Given the description of an element on the screen output the (x, y) to click on. 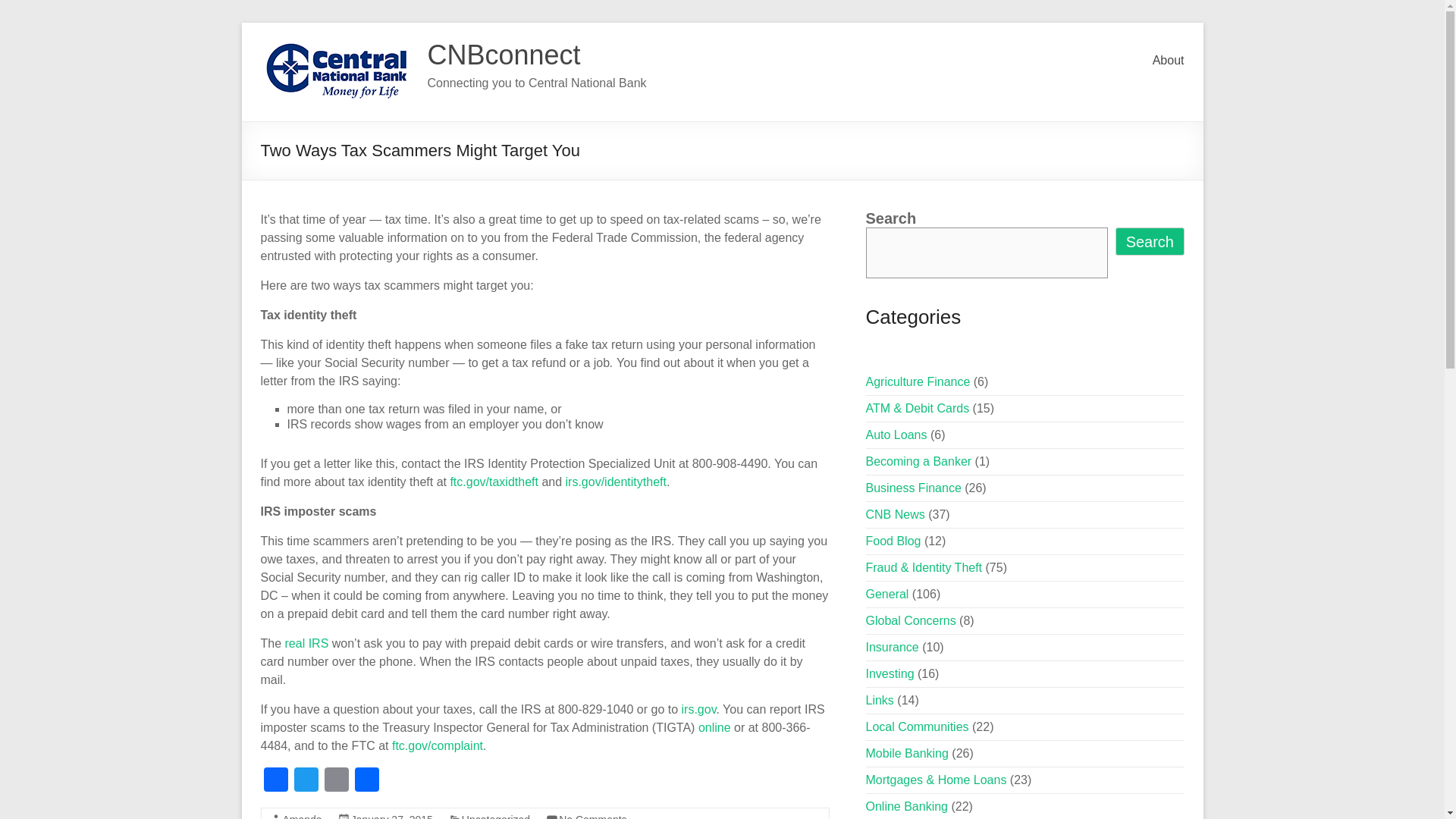
Agriculture Finance (918, 381)
Amanda (301, 816)
No Comments (592, 816)
Share (366, 781)
Facebook (275, 781)
Twitter (306, 781)
online (714, 727)
Email (336, 781)
About (1169, 60)
